Given the description of an element on the screen output the (x, y) to click on. 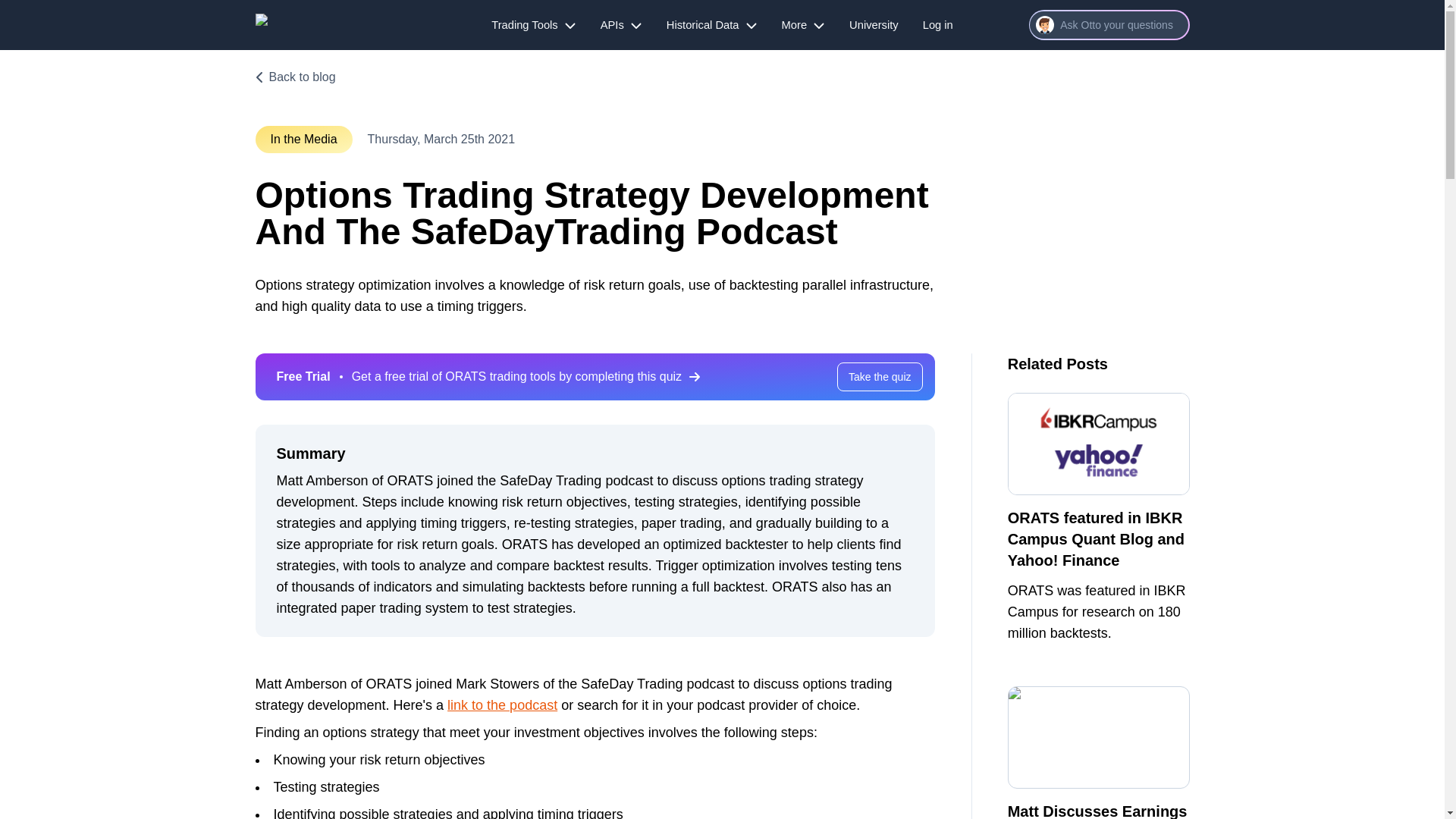
APIs (620, 24)
Log in (938, 24)
link to the podcast (501, 704)
Back to blog (294, 76)
More (803, 24)
Ask Otto your questions (1109, 24)
Historical Data (712, 24)
University (873, 24)
Trading Tools (533, 24)
